Given the description of an element on the screen output the (x, y) to click on. 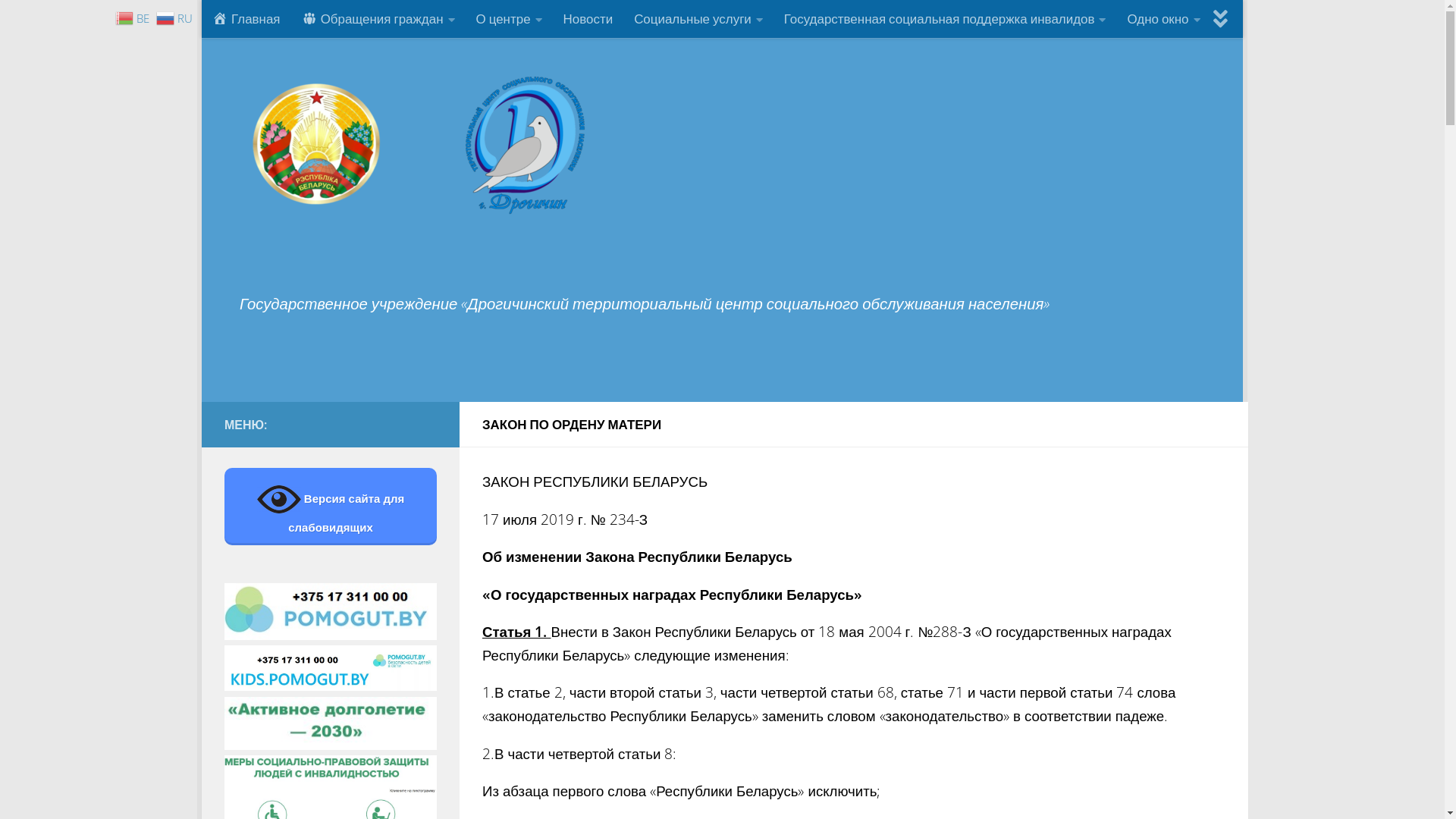
BE Element type: text (134, 16)
Skip to content Element type: text (268, 22)
RU Element type: text (176, 16)
